Given the description of an element on the screen output the (x, y) to click on. 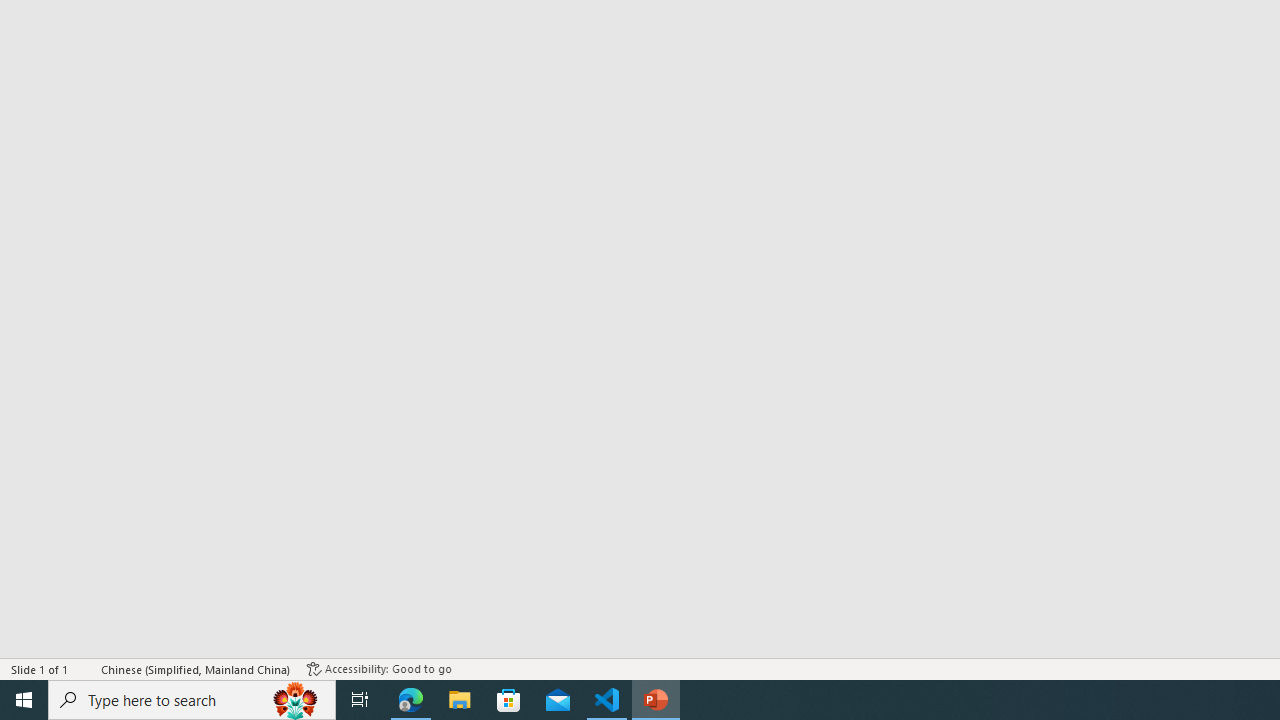
Spell Check  (86, 668)
